Given the description of an element on the screen output the (x, y) to click on. 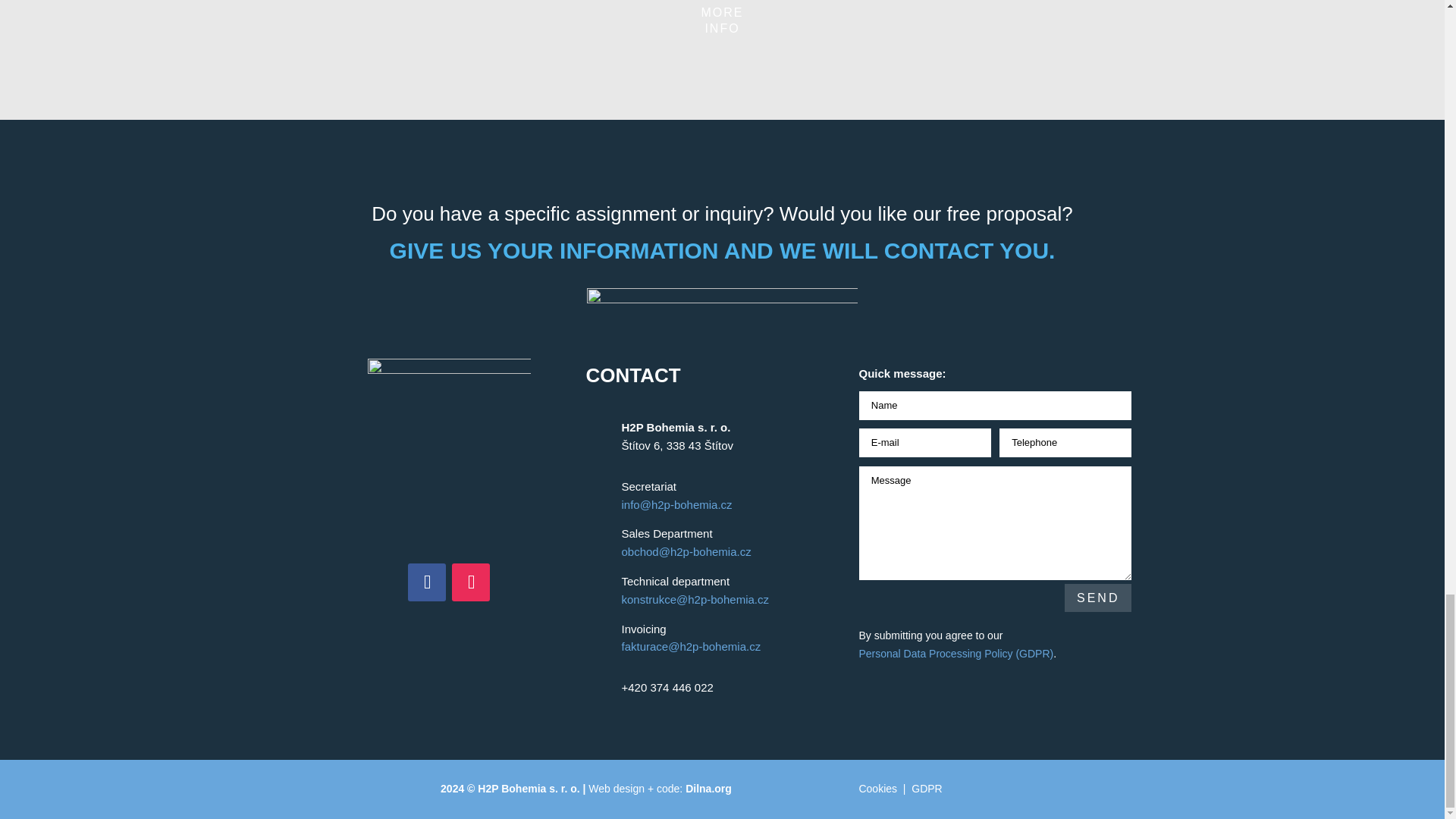
Dilna.org (708, 788)
SEND (1097, 597)
GDPR (926, 788)
Cookies (877, 788)
Postupujte podle Facebook (426, 582)
Postupujte podle Instagram (470, 582)
